Given the description of an element on the screen output the (x, y) to click on. 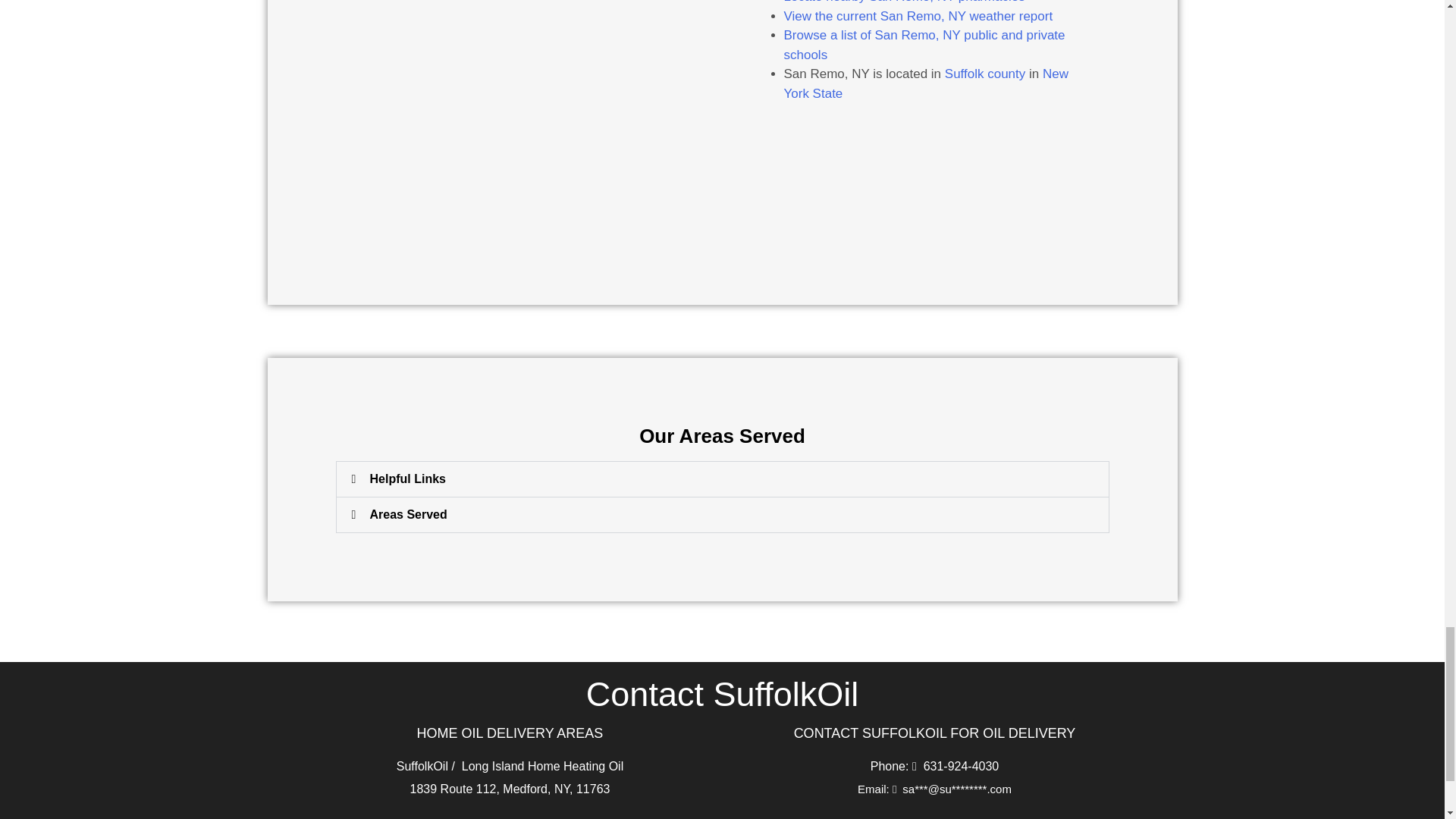
Browse a list of San Remo, NY public and private schools (924, 44)
Helpful Links (407, 478)
Suffolk county (984, 73)
Locate nearby San Remo, NY pharmacies (904, 2)
New York State (926, 83)
View the current San Remo, NY weather report (918, 16)
Areas Served (407, 513)
